Given the description of an element on the screen output the (x, y) to click on. 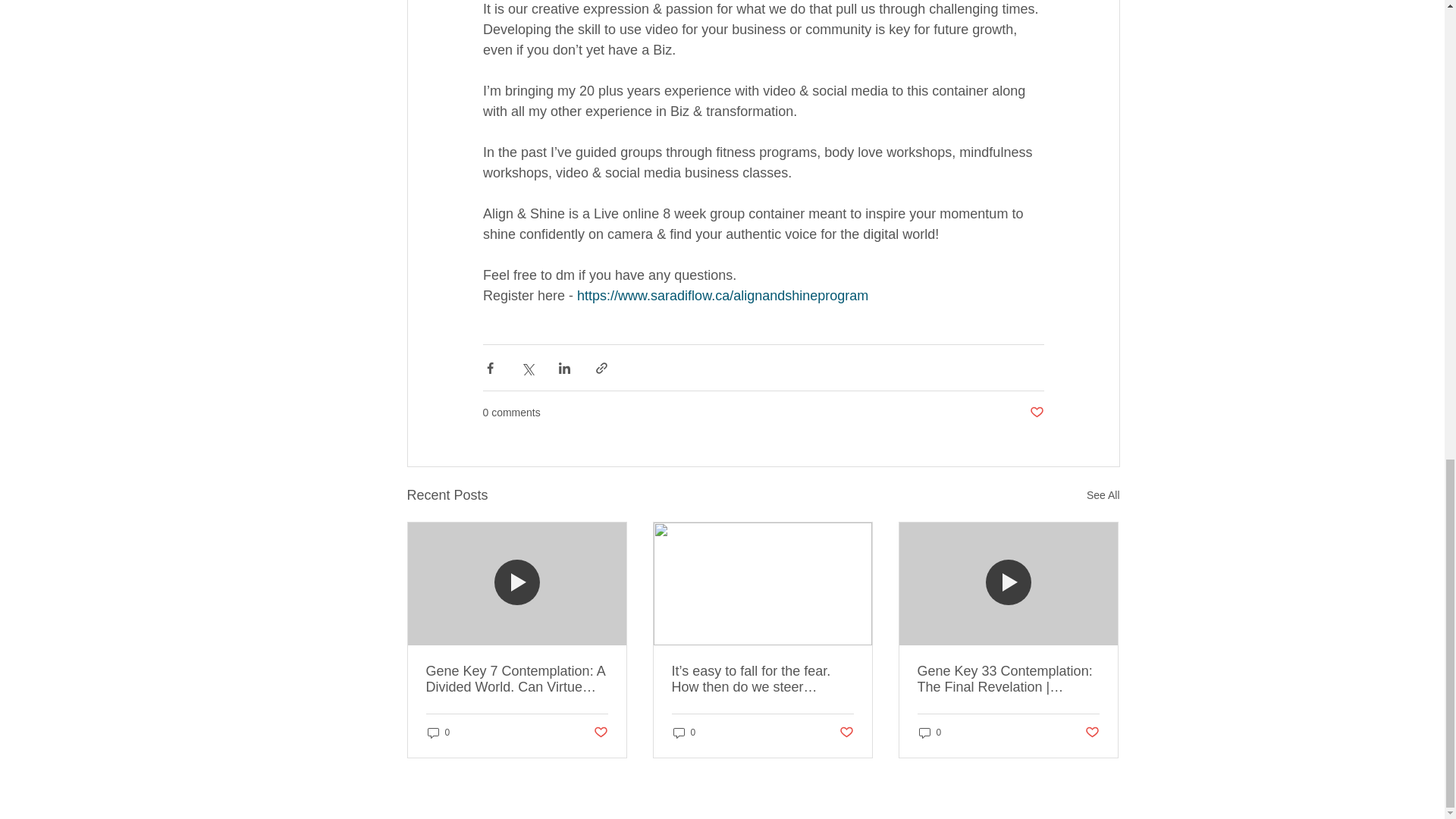
Post not marked as liked (1091, 732)
0 (684, 732)
Post not marked as liked (845, 732)
0 (438, 732)
0 (930, 732)
Post not marked as liked (1036, 412)
See All (1102, 495)
Post not marked as liked (599, 732)
